Given the description of an element on the screen output the (x, y) to click on. 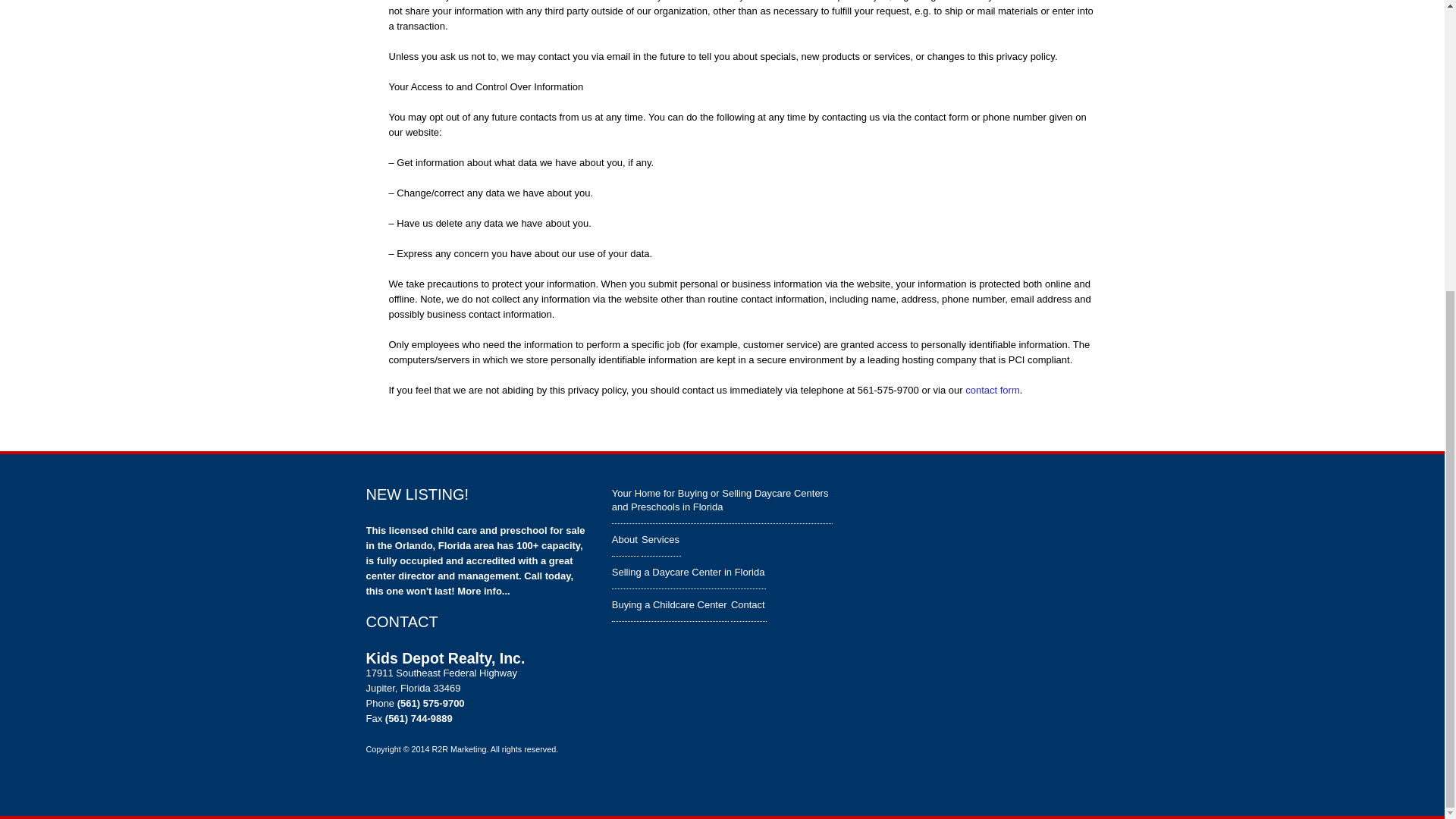
Contact Us (992, 389)
Contact (748, 603)
Selling a Daycare Center in Florida (689, 572)
contact form (992, 389)
More info... (483, 591)
Buying a Childcare Center (670, 603)
Services (661, 539)
